Given the description of an element on the screen output the (x, y) to click on. 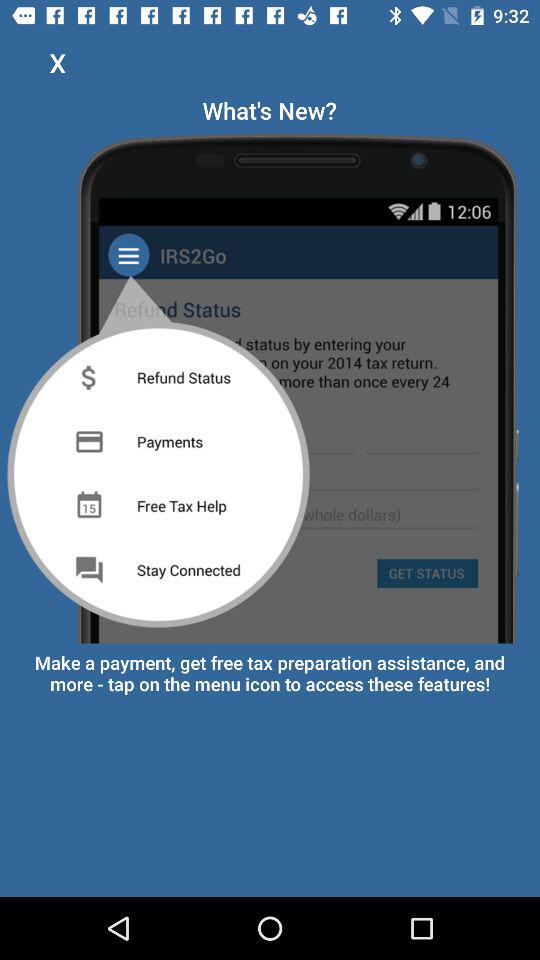
click item next to what's new? (57, 62)
